Given the description of an element on the screen output the (x, y) to click on. 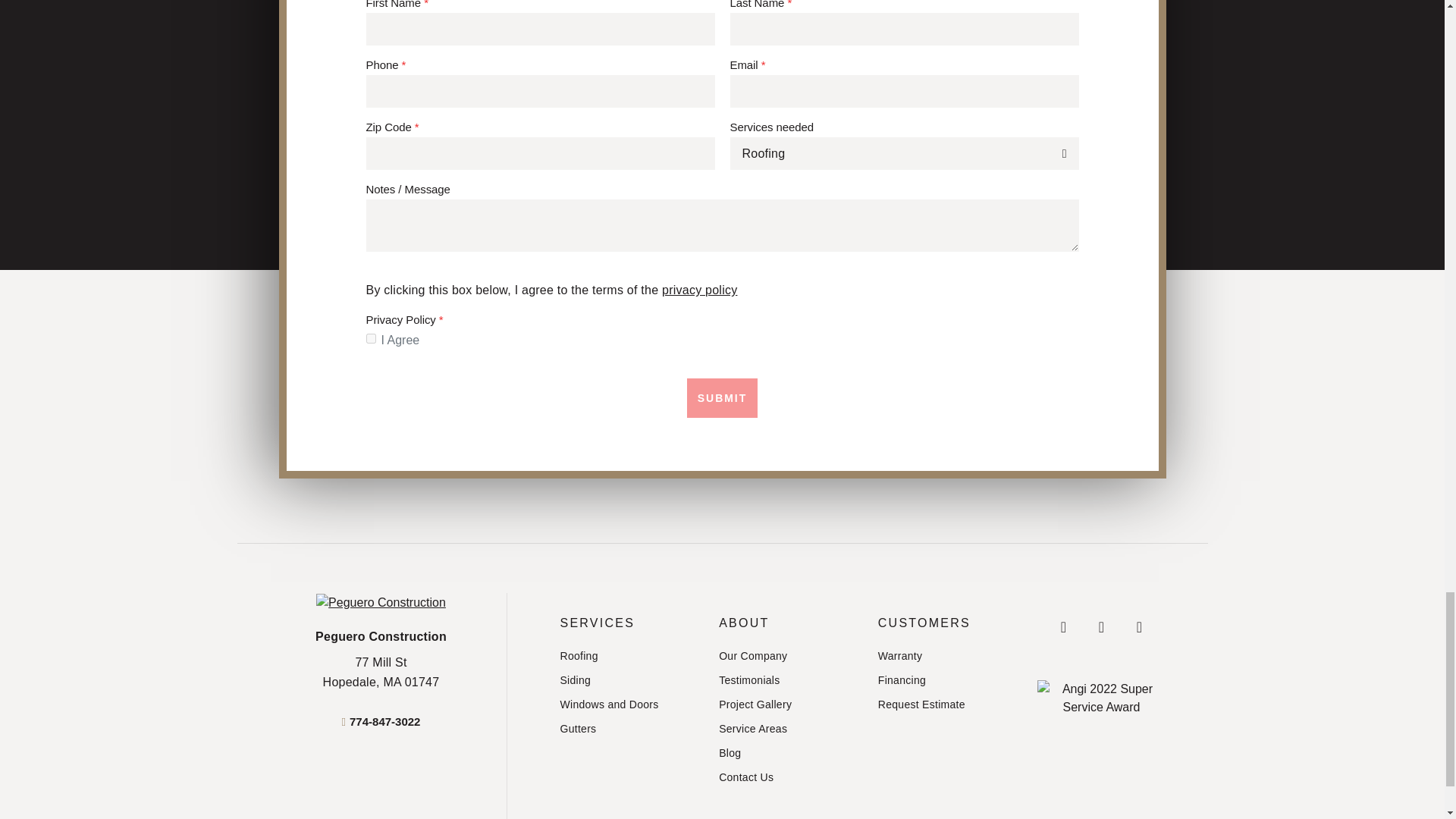
Siding (381, 672)
SUBMIT (627, 680)
774-847-3022 (722, 397)
Gutters (381, 721)
1 (627, 728)
privacy policy (370, 338)
Roofing (699, 289)
Windows and Doors (627, 655)
